Given the description of an element on the screen output the (x, y) to click on. 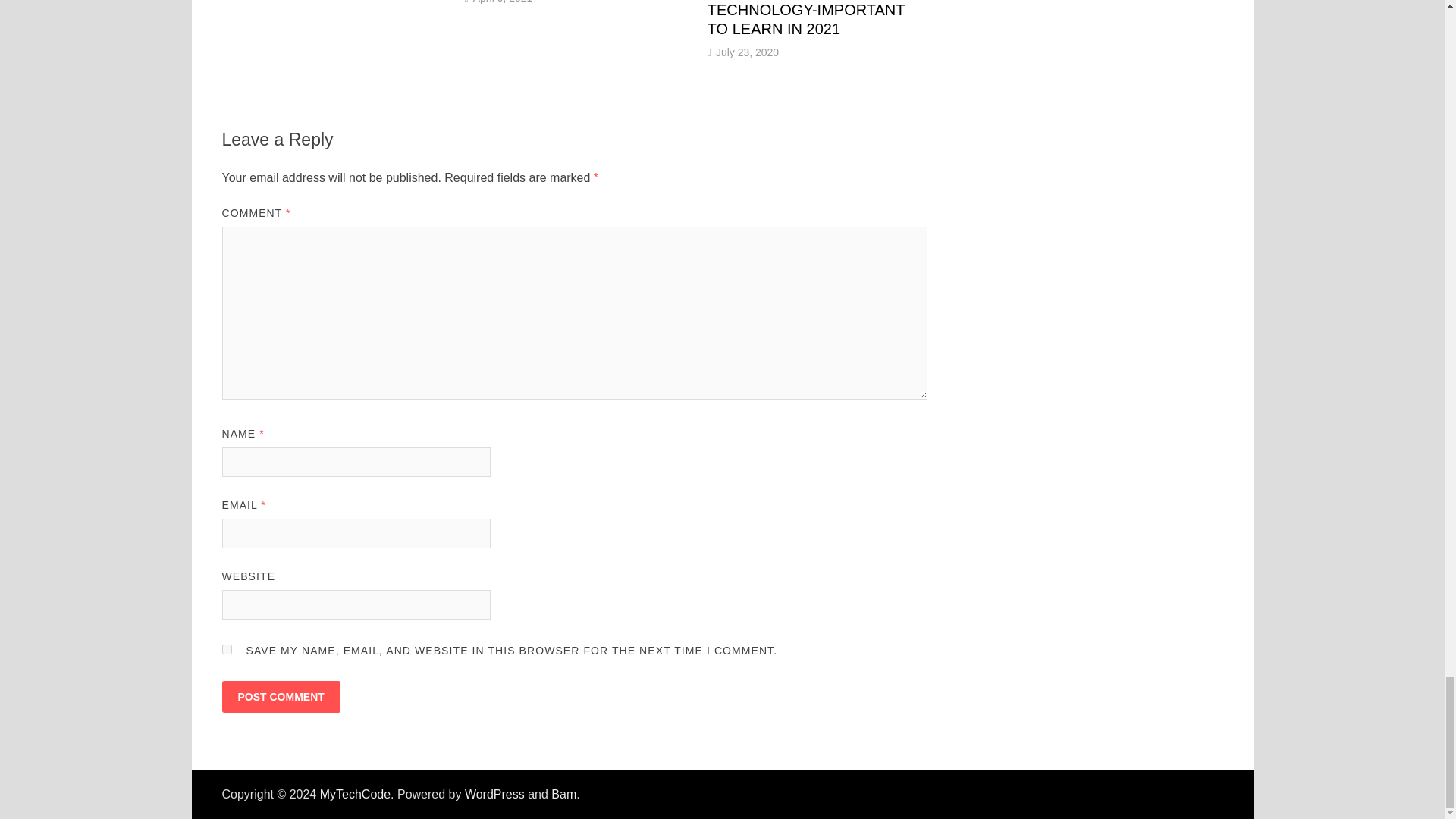
MyTechCode (355, 793)
TECHNOLOGY-IMPORTANT TO LEARN IN 2021 (805, 18)
Post Comment (280, 696)
yes (226, 649)
